Given the description of an element on the screen output the (x, y) to click on. 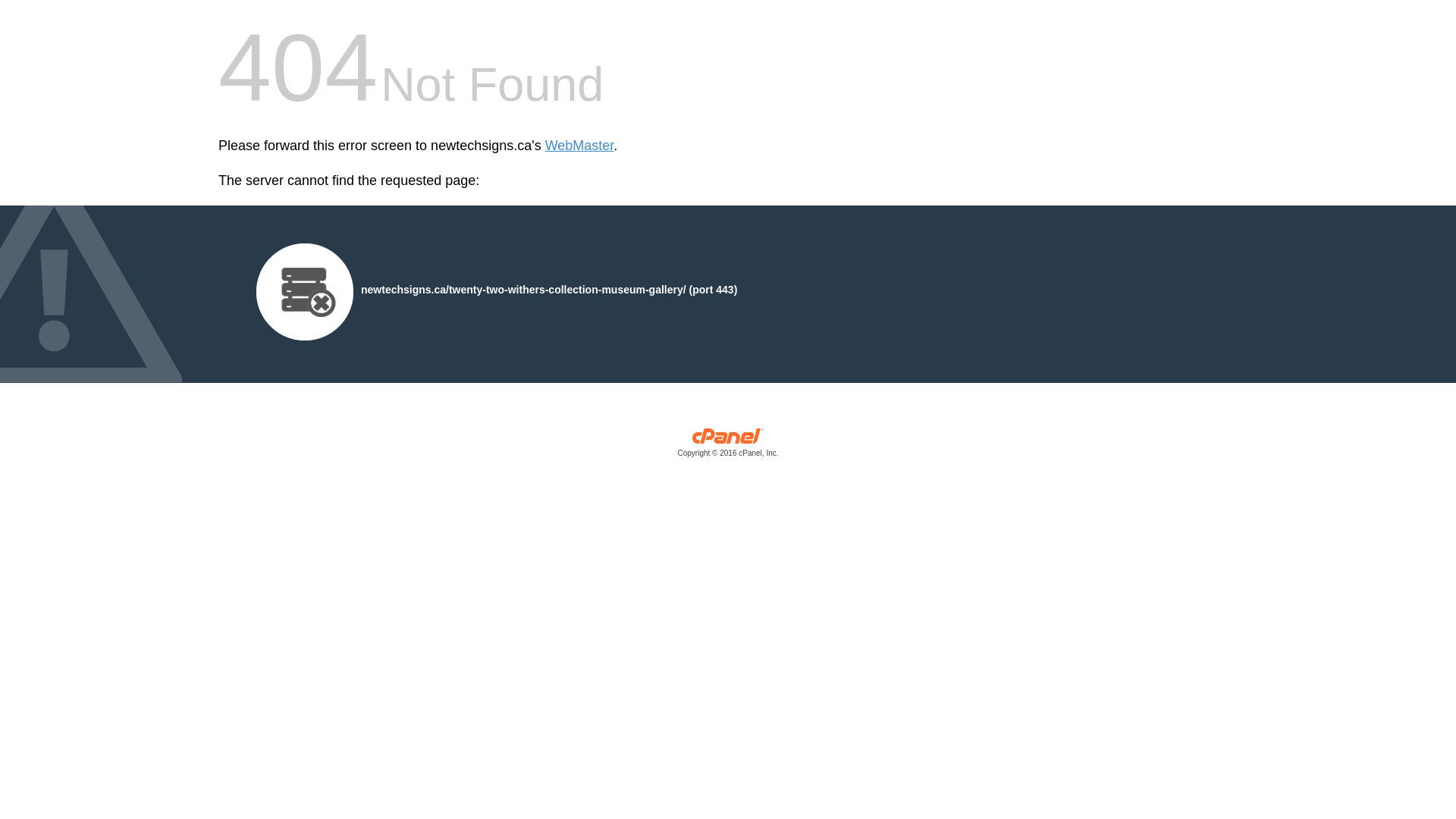
cPanel, Inc. (727, 446)
WebMaster (579, 145)
